Given the description of an element on the screen output the (x, y) to click on. 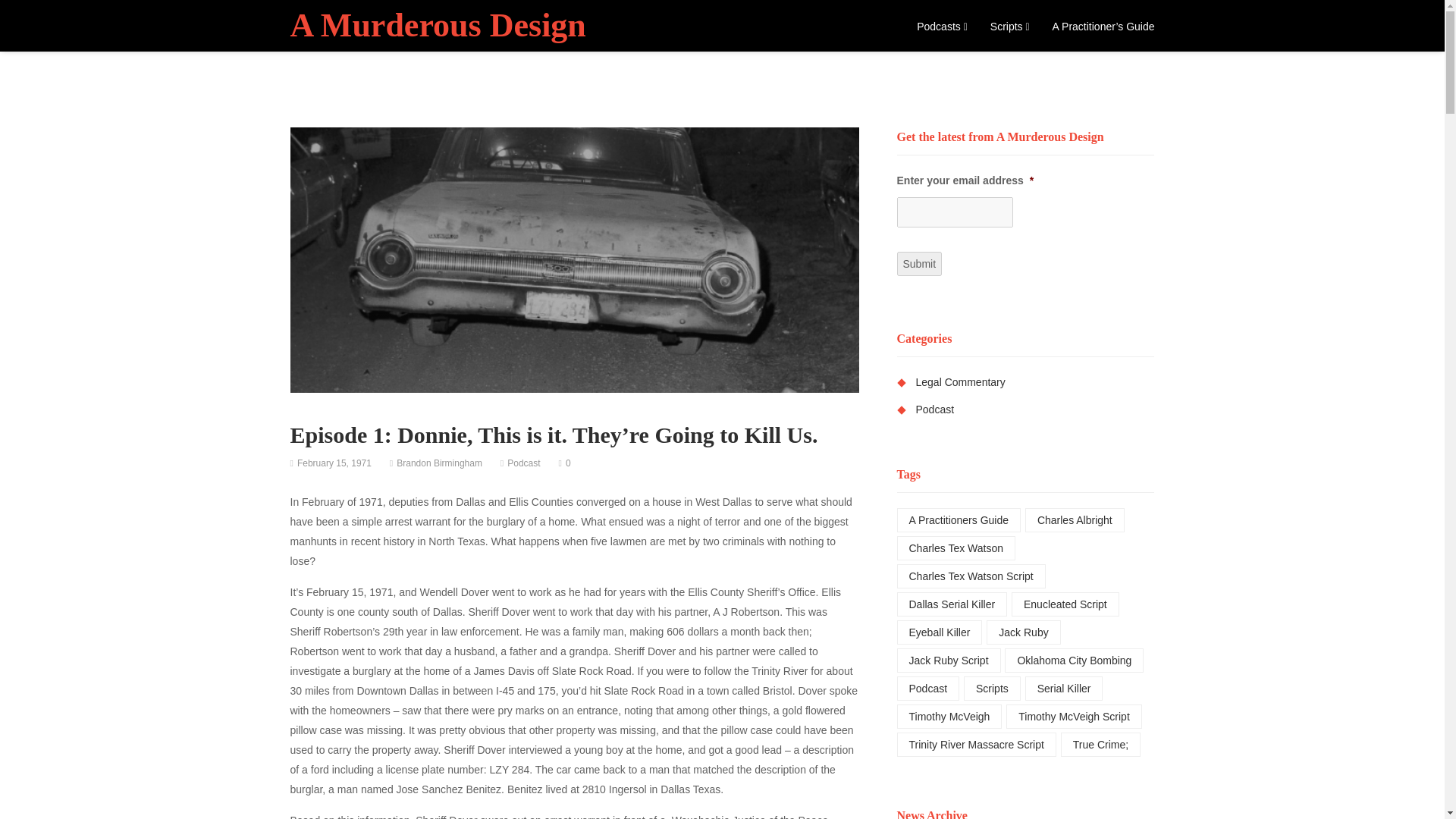
Scripts (1009, 26)
Podcasts (942, 26)
Submit (919, 263)
Scripts (1009, 26)
A Murderous Design (437, 25)
A Murderous Design (437, 25)
Podcast (523, 462)
Podcasts (942, 26)
Brandon Birmingham (438, 462)
February 15, 1971 (334, 462)
